Given the description of an element on the screen output the (x, y) to click on. 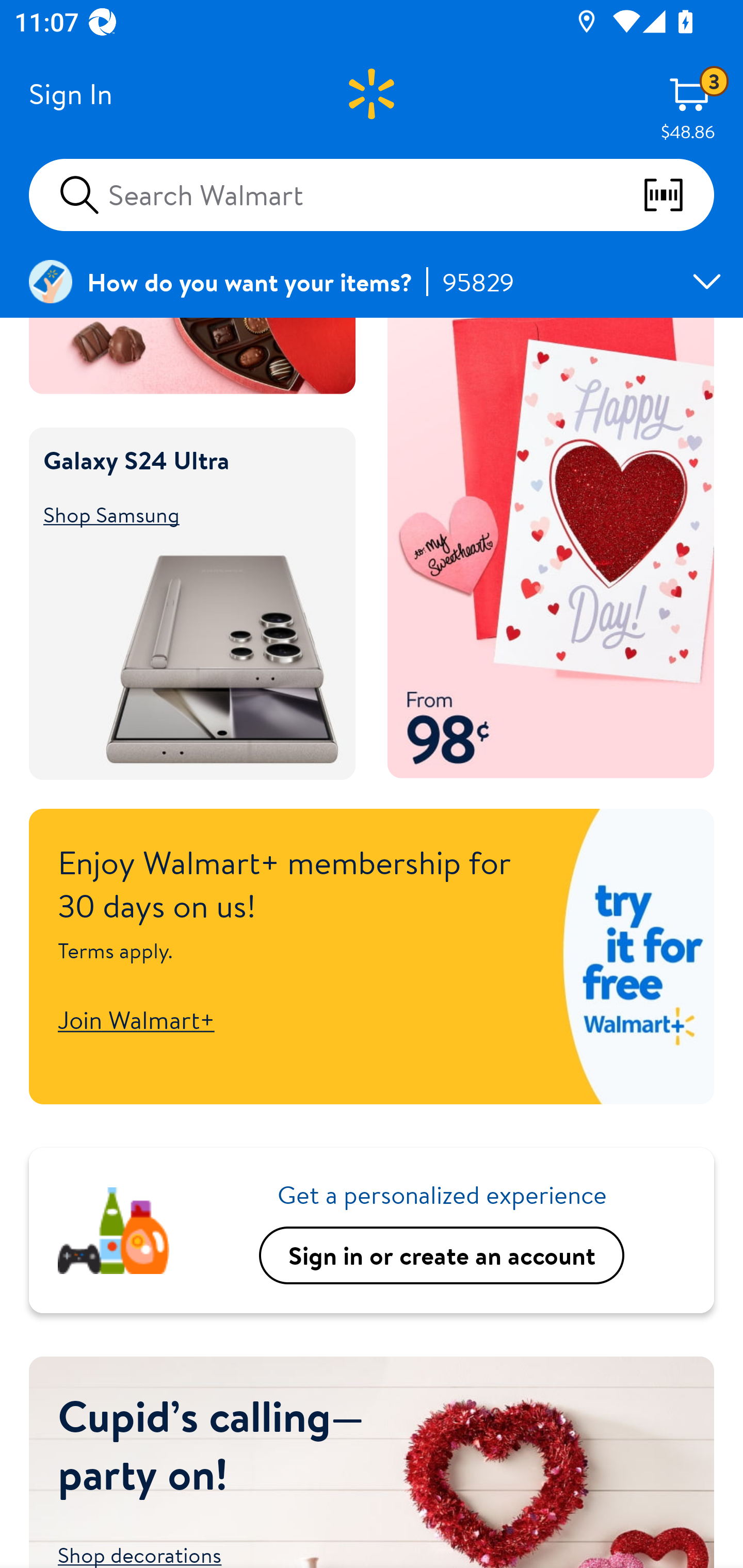
Sign In (70, 93)
Search Walmart scan barcodes qr codes and more (371, 194)
scan barcodes qr codes and more (677, 195)
Say it from the heart  Shop cards Shop cards (550, 547)
Shop Samsung Shop Samsung Galaxy S24 Ultra (183, 514)
Sign in or create an account (441, 1255)
